Given the description of an element on the screen output the (x, y) to click on. 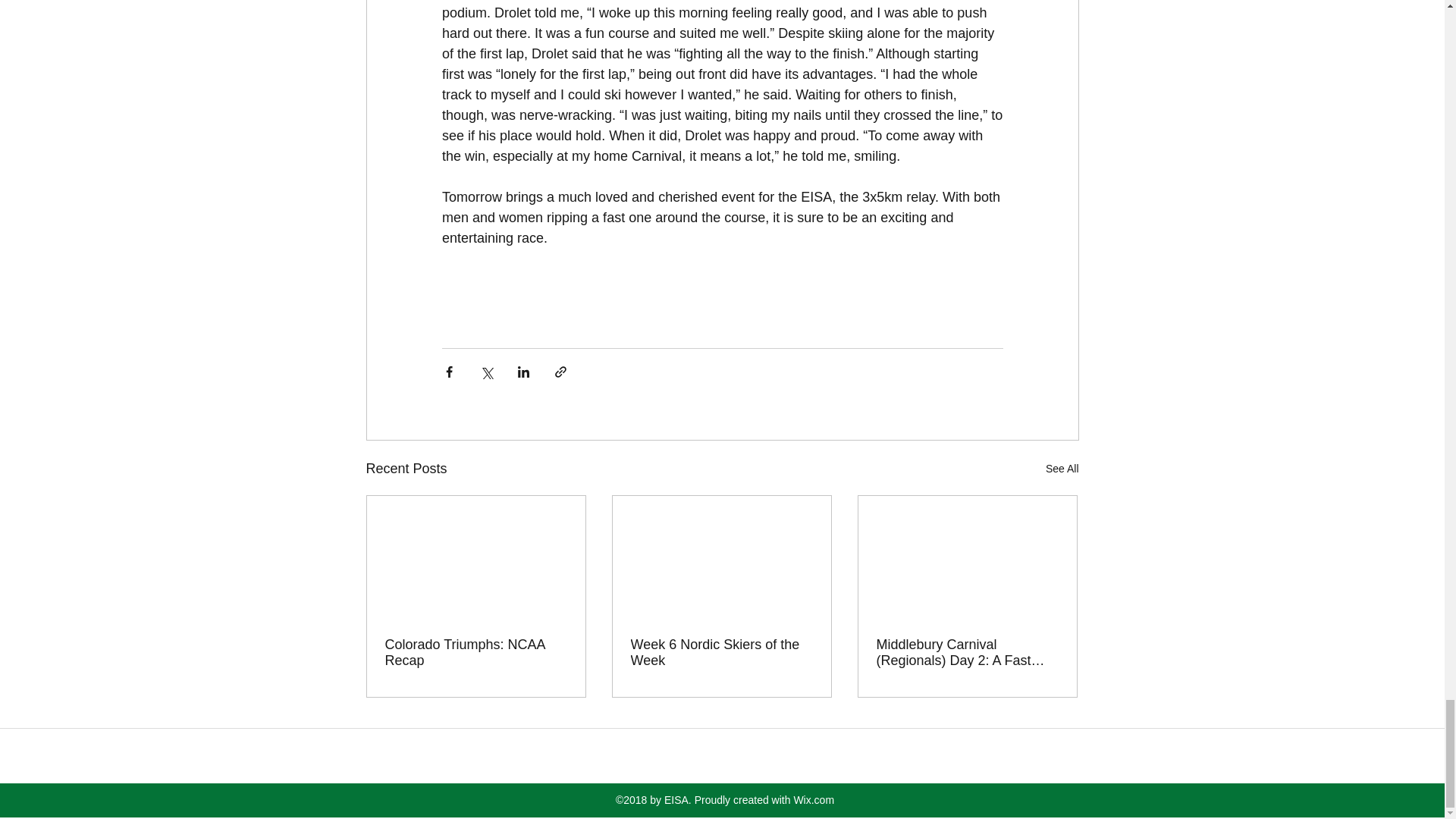
Colorado Triumphs: NCAA Recap (476, 653)
Week 6 Nordic Skiers of the Week (721, 653)
See All (1061, 468)
